Given the description of an element on the screen output the (x, y) to click on. 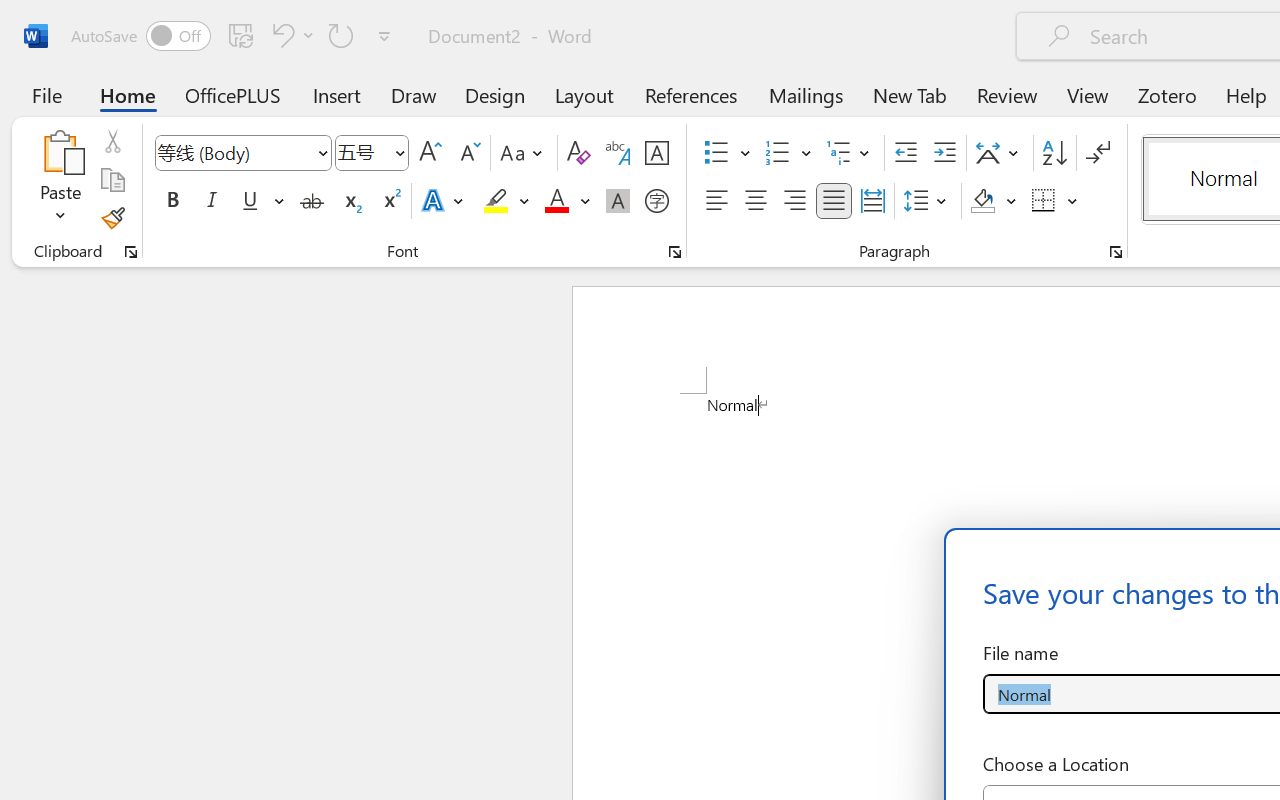
AutoSave (140, 35)
Enclose Characters... (656, 201)
Paste (60, 151)
Office Clipboard... (131, 252)
Underline (261, 201)
Font (242, 153)
Clear Formatting (578, 153)
Sort... (1054, 153)
Line and Paragraph Spacing (927, 201)
Text Highlight Color Yellow (495, 201)
Copy (112, 179)
View (1087, 94)
Font Size (372, 153)
Font (234, 152)
